Given the description of an element on the screen output the (x, y) to click on. 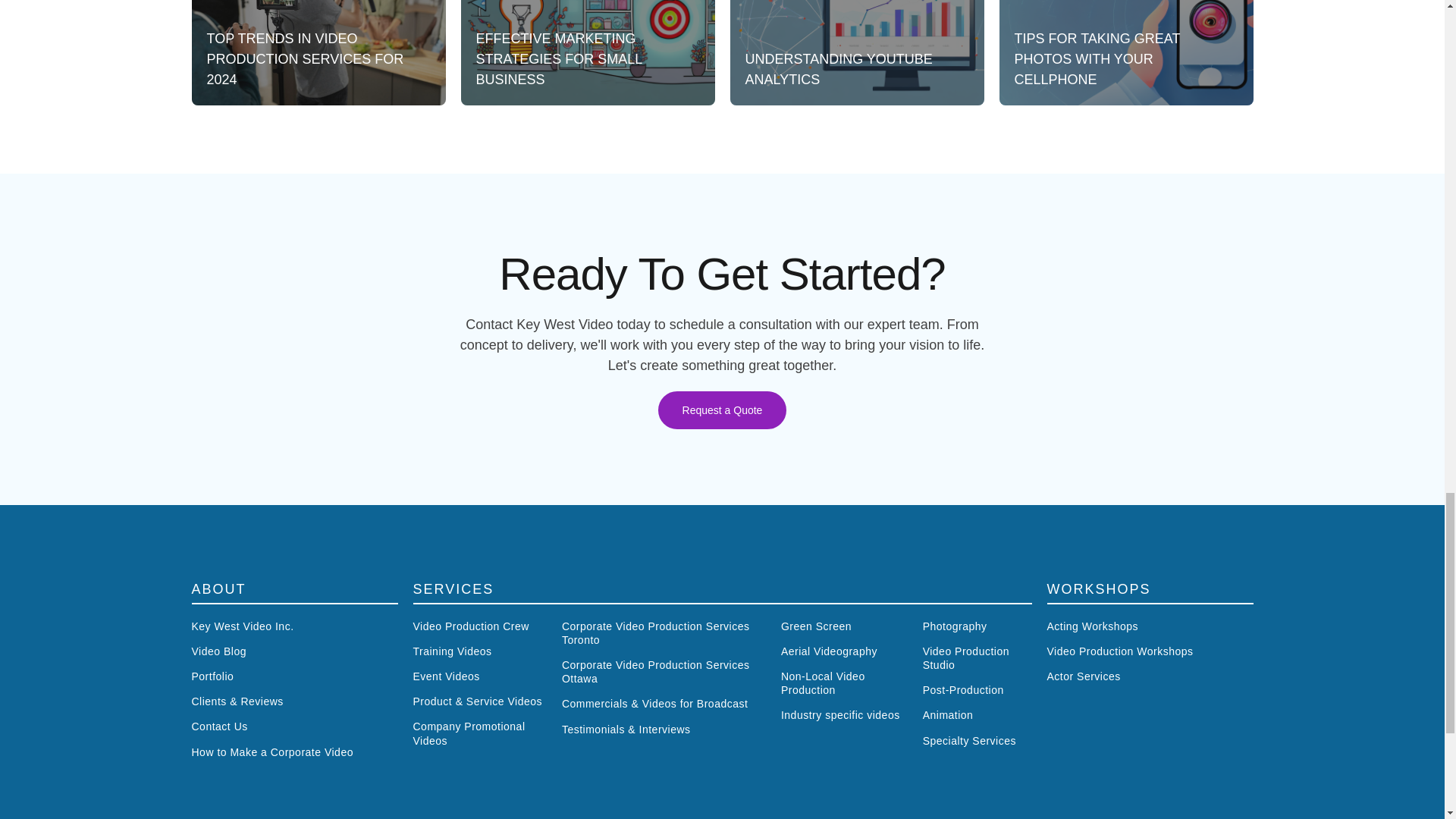
How to Make a Corporate Video (293, 752)
Event Videos (479, 676)
Video Production Crew (479, 626)
EFFECTIVE MARKETING STRATEGIES FOR SMALL BUSINESS (587, 52)
Request a Quote (722, 410)
Contact Us (293, 726)
Key West Video Inc. (293, 626)
Portfolio (293, 676)
Training Videos (479, 651)
TOP TRENDS IN VIDEO PRODUCTION SERVICES FOR 2024 (317, 52)
TIPS FOR TAKING GREAT PHOTOS WITH YOUR CELLPHONE (1125, 52)
Video Blog (293, 651)
UNDERSTANDING YOUTUBE ANALYTICS (856, 52)
Company Promotional Videos (479, 732)
